Given the description of an element on the screen output the (x, y) to click on. 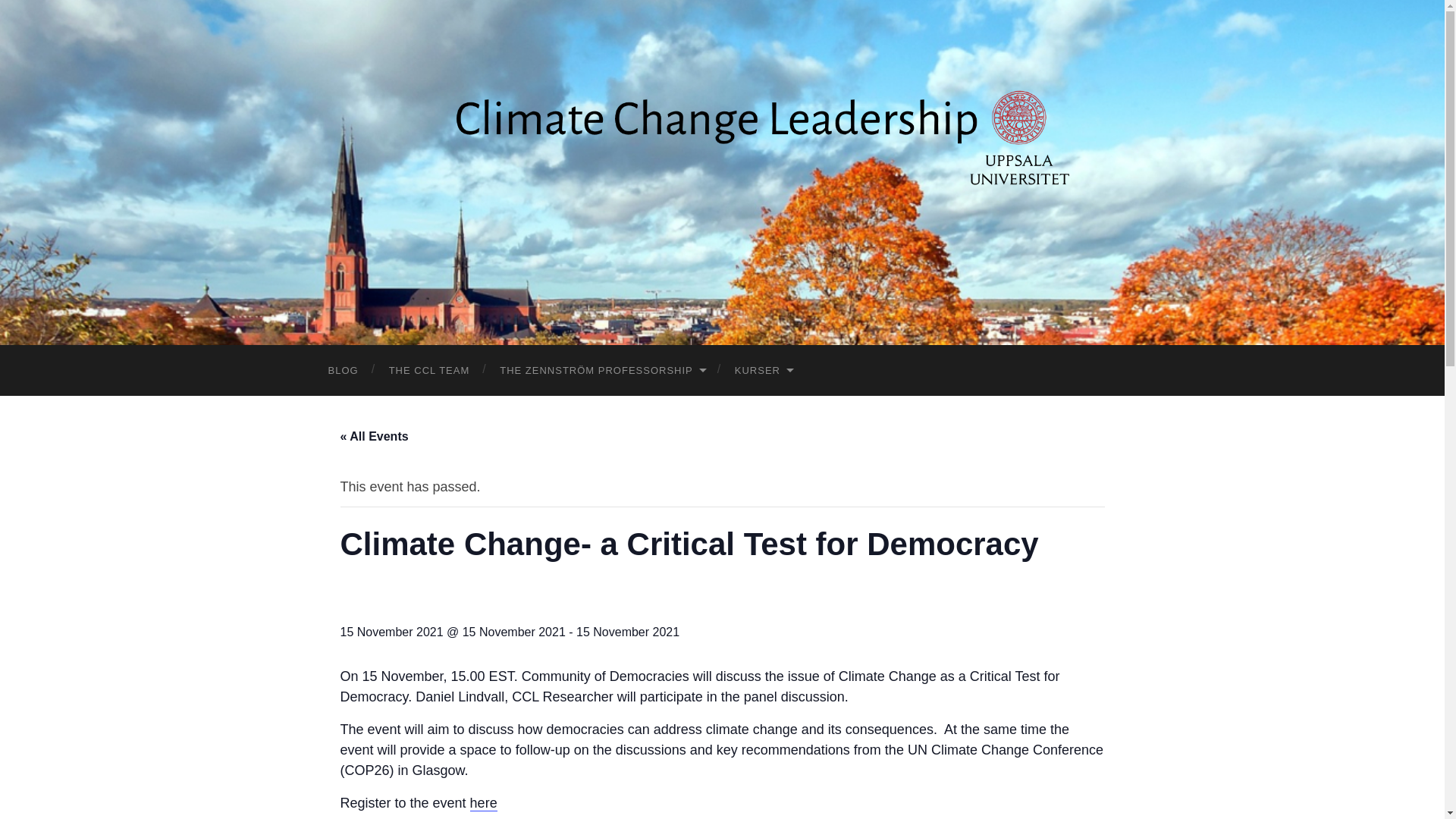
THE CCL TEAM (429, 369)
KURSER (762, 369)
Climate Change Leadership (722, 170)
BLOG (342, 369)
